Given the description of an element on the screen output the (x, y) to click on. 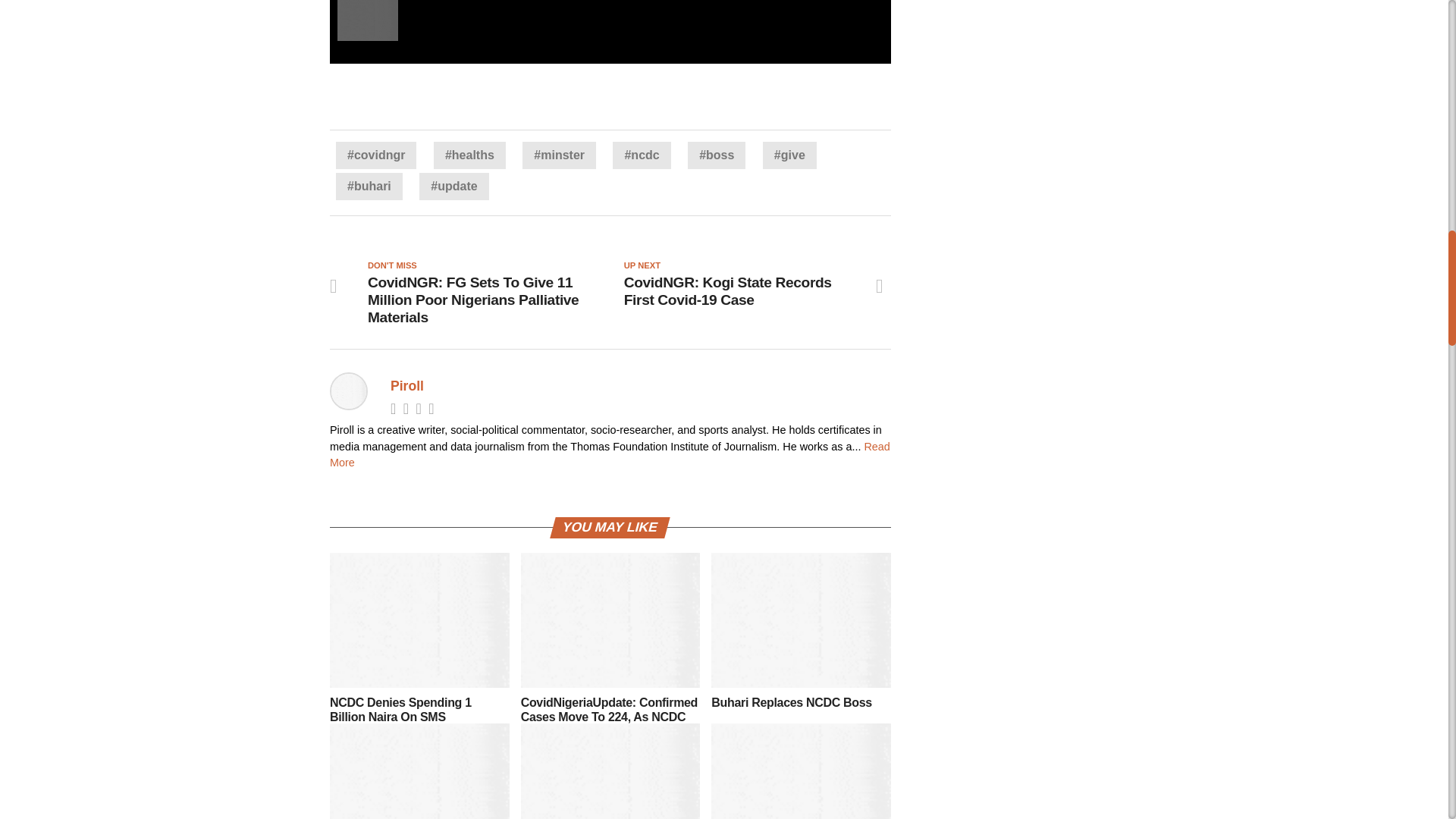
Posts by Piroll (406, 385)
